Given the description of an element on the screen output the (x, y) to click on. 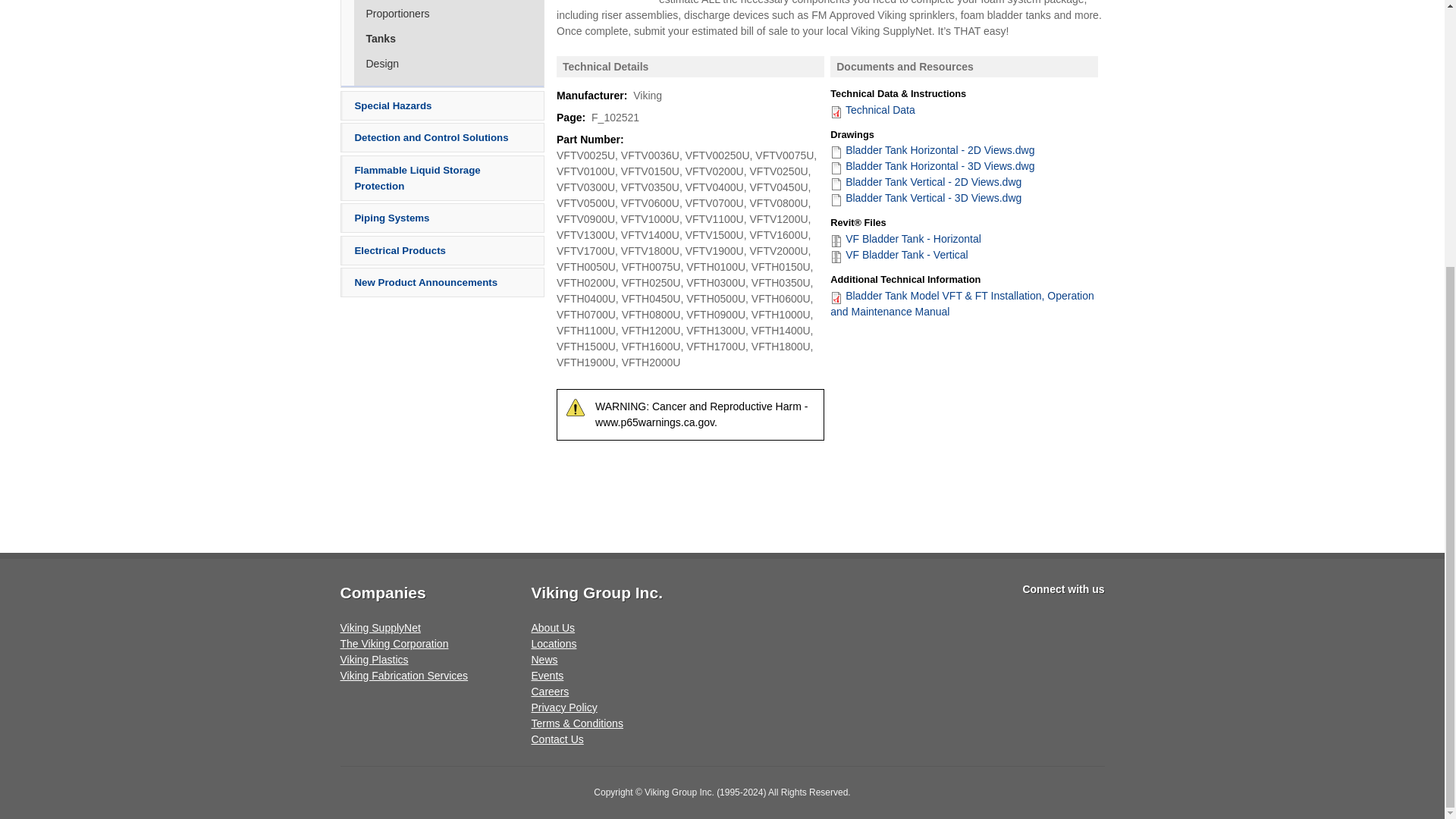
647.2 KB PDF (871, 109)
5.35 MB DWG (931, 165)
1.54 MB DWG (931, 150)
1.03 MB ZIP (905, 238)
636.94 KB ZIP (898, 254)
4.97 MB DWG (925, 197)
1.34 MB DWG (925, 182)
